Given the description of an element on the screen output the (x, y) to click on. 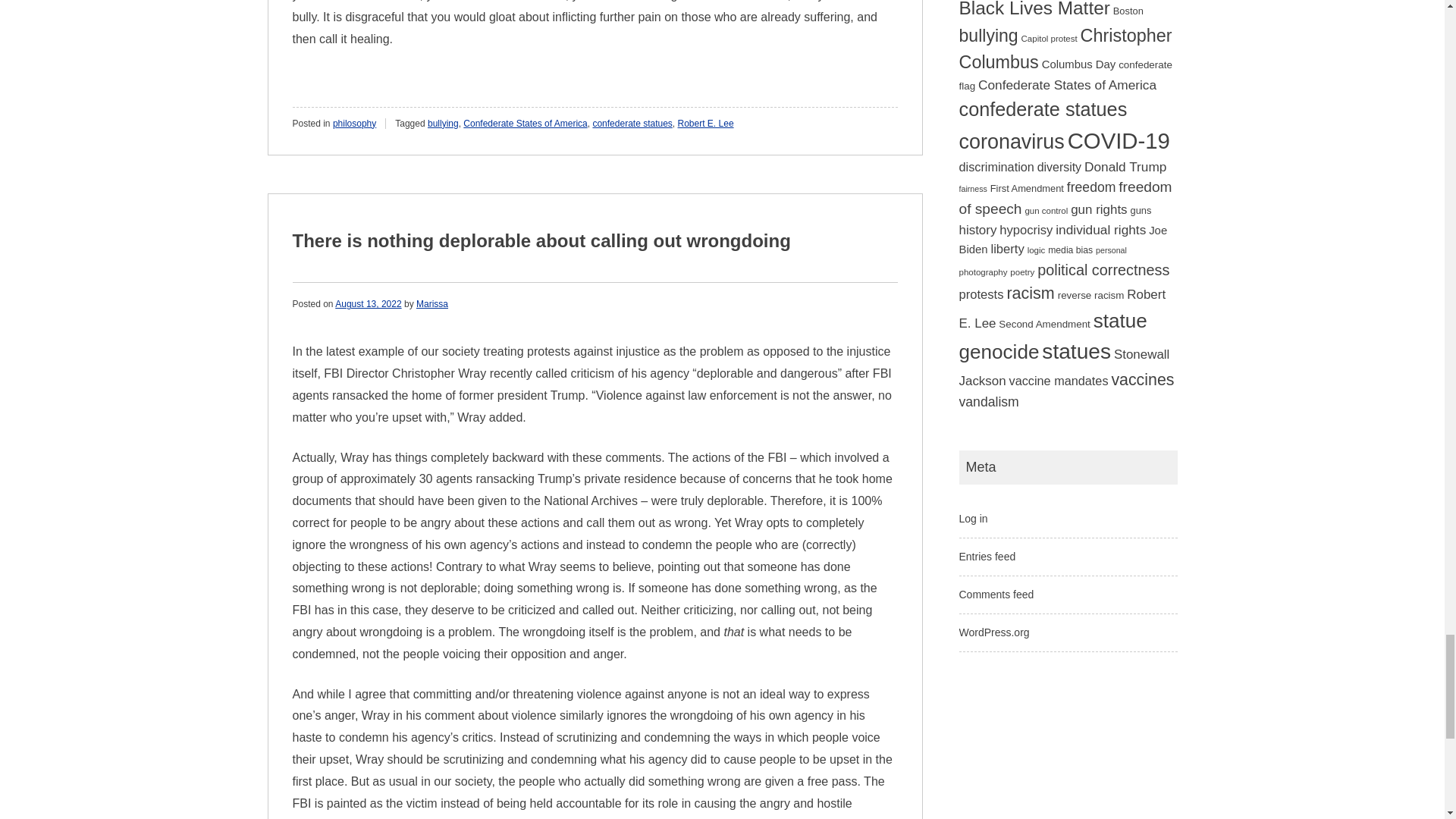
bullying (443, 122)
August 13, 2022 (367, 303)
Confederate States of America (524, 122)
philosophy (354, 122)
There is nothing deplorable about calling out wrongdoing (541, 240)
Marissa (432, 303)
confederate statues (631, 122)
Robert E. Lee (705, 122)
